Given the description of an element on the screen output the (x, y) to click on. 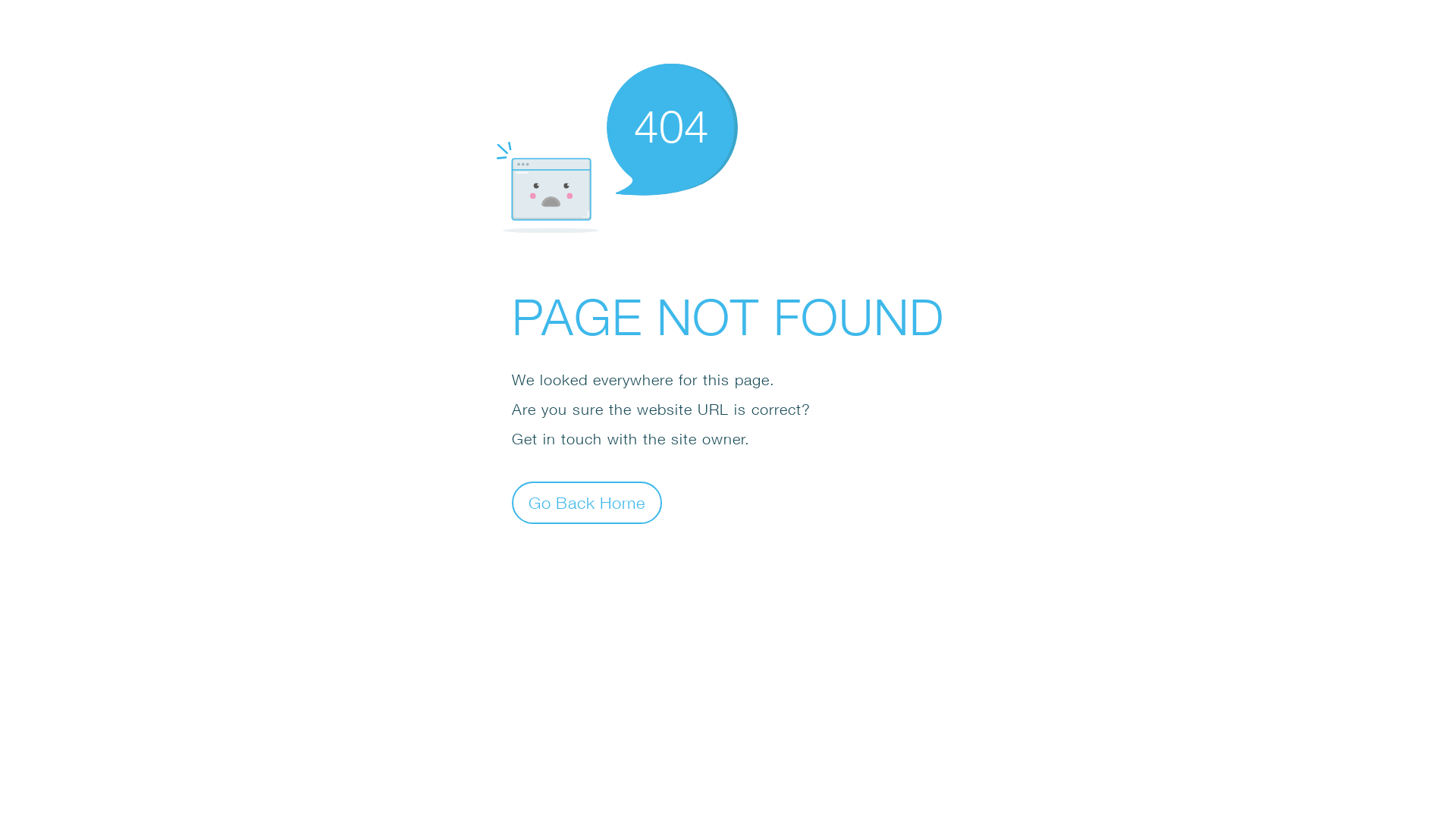
Go Back Home Element type: text (586, 502)
